Given the description of an element on the screen output the (x, y) to click on. 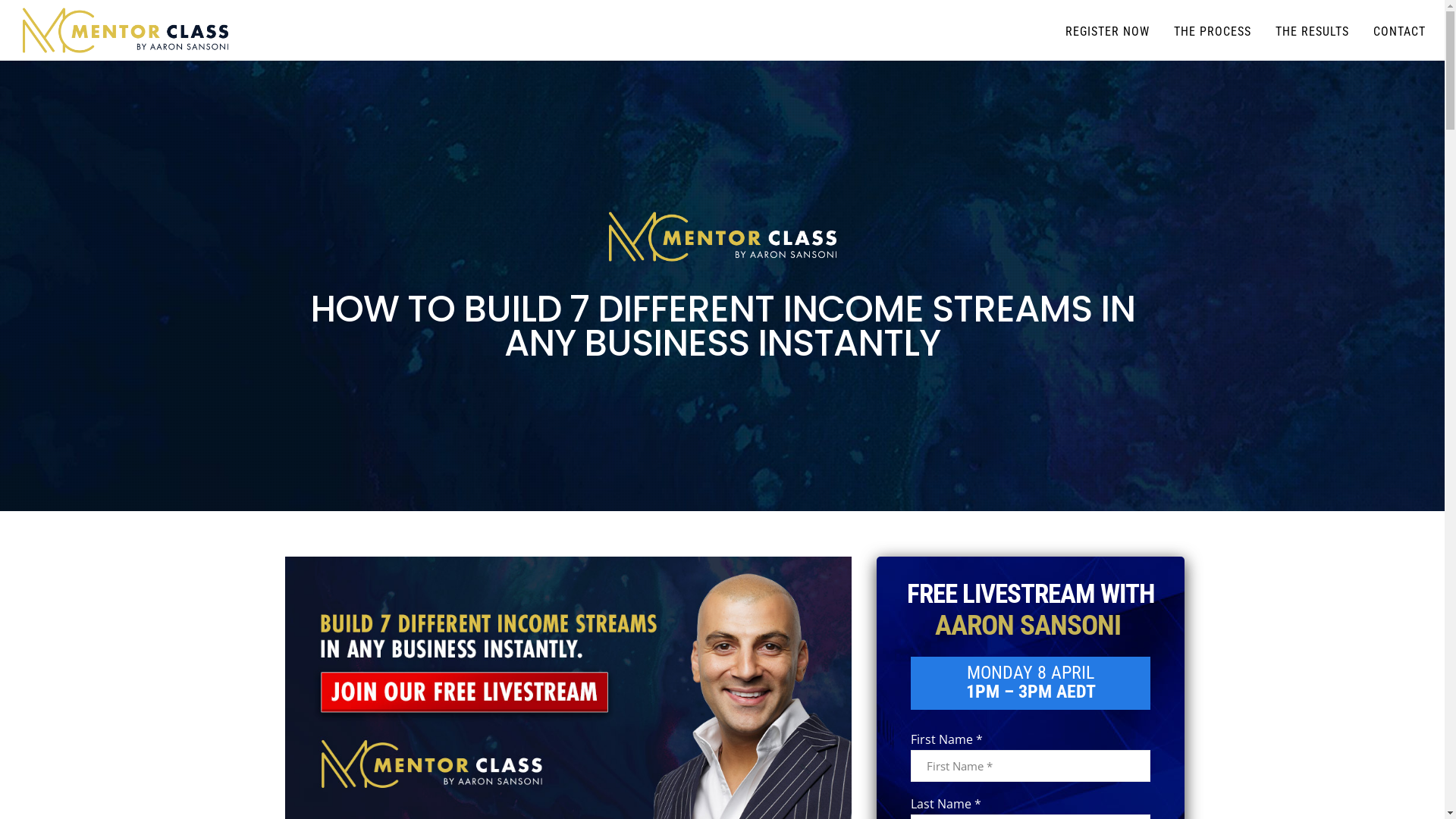
THE RESULTS Element type: text (1300, 30)
REGISTER NOW Element type: text (1095, 30)
CONTACT Element type: text (1387, 30)
THE PROCESS Element type: text (1200, 30)
